Given the description of an element on the screen output the (x, y) to click on. 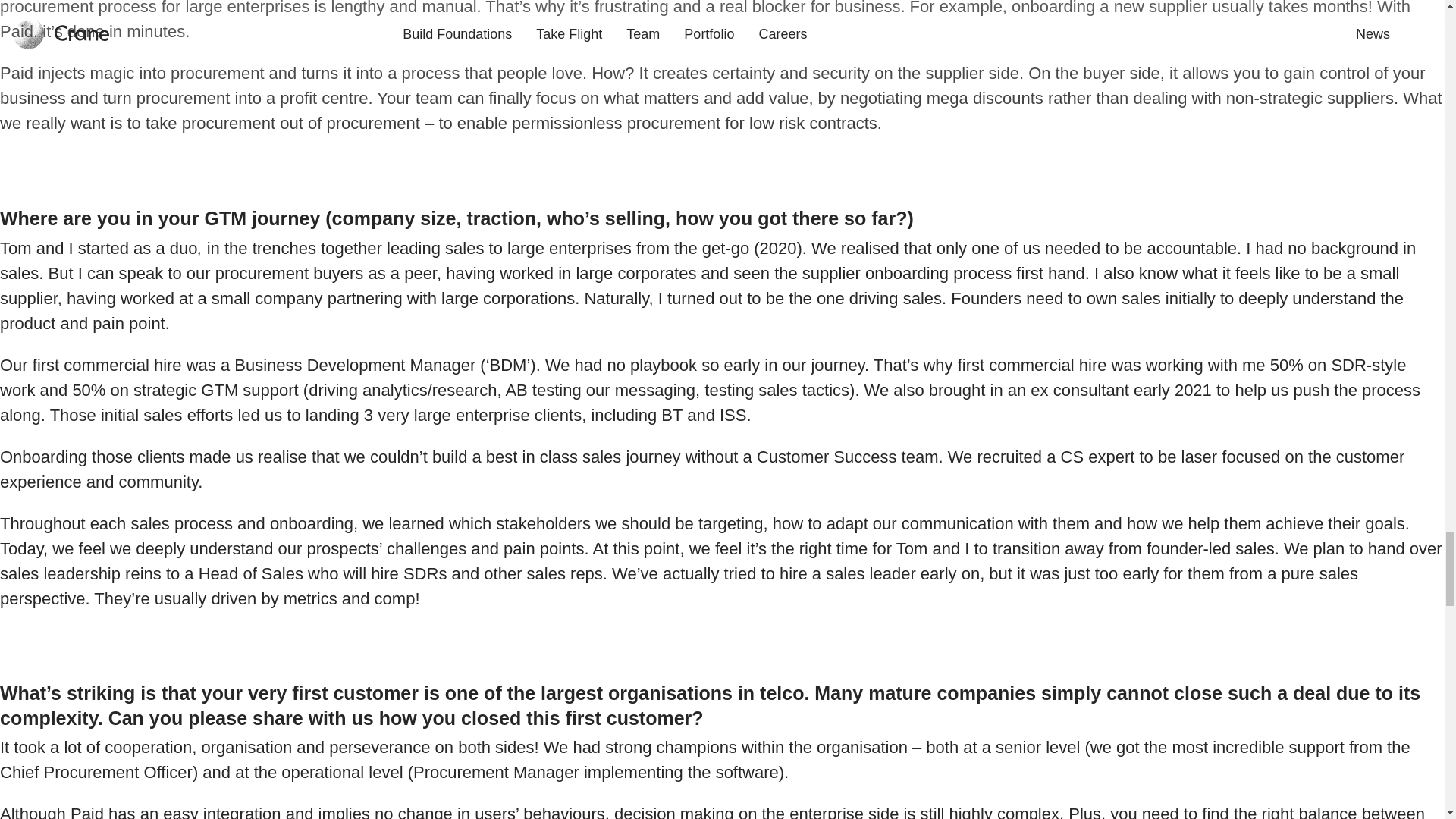
Head of Sales (250, 573)
